Given the description of an element on the screen output the (x, y) to click on. 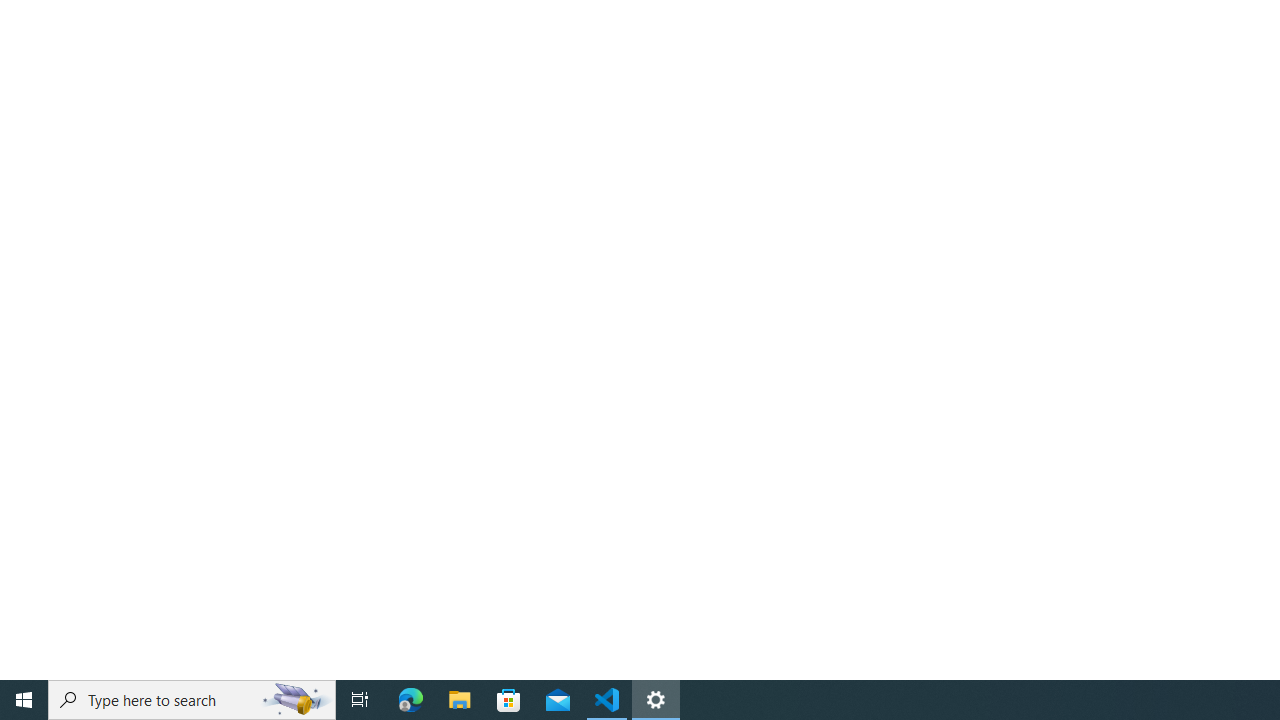
Microsoft Edge (411, 699)
Task View (359, 699)
Search highlights icon opens search home window (295, 699)
Settings - 1 running window (656, 699)
Type here to search (191, 699)
Microsoft Store (509, 699)
Start (24, 699)
File Explorer (460, 699)
Visual Studio Code - 1 running window (607, 699)
